Given the description of an element on the screen output the (x, y) to click on. 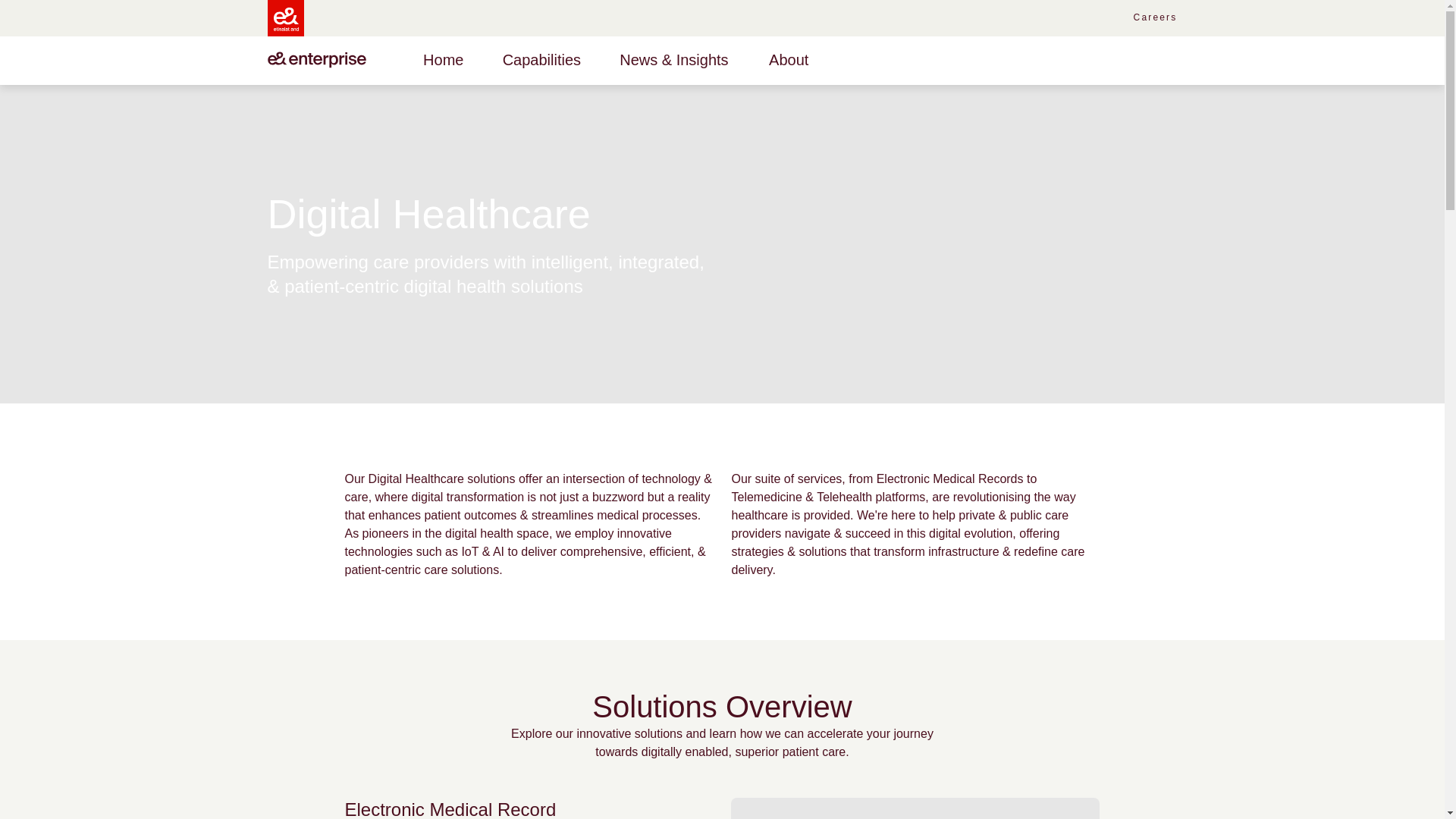
Home (443, 59)
Capabilities (541, 59)
Careers (1149, 18)
